Given the description of an element on the screen output the (x, y) to click on. 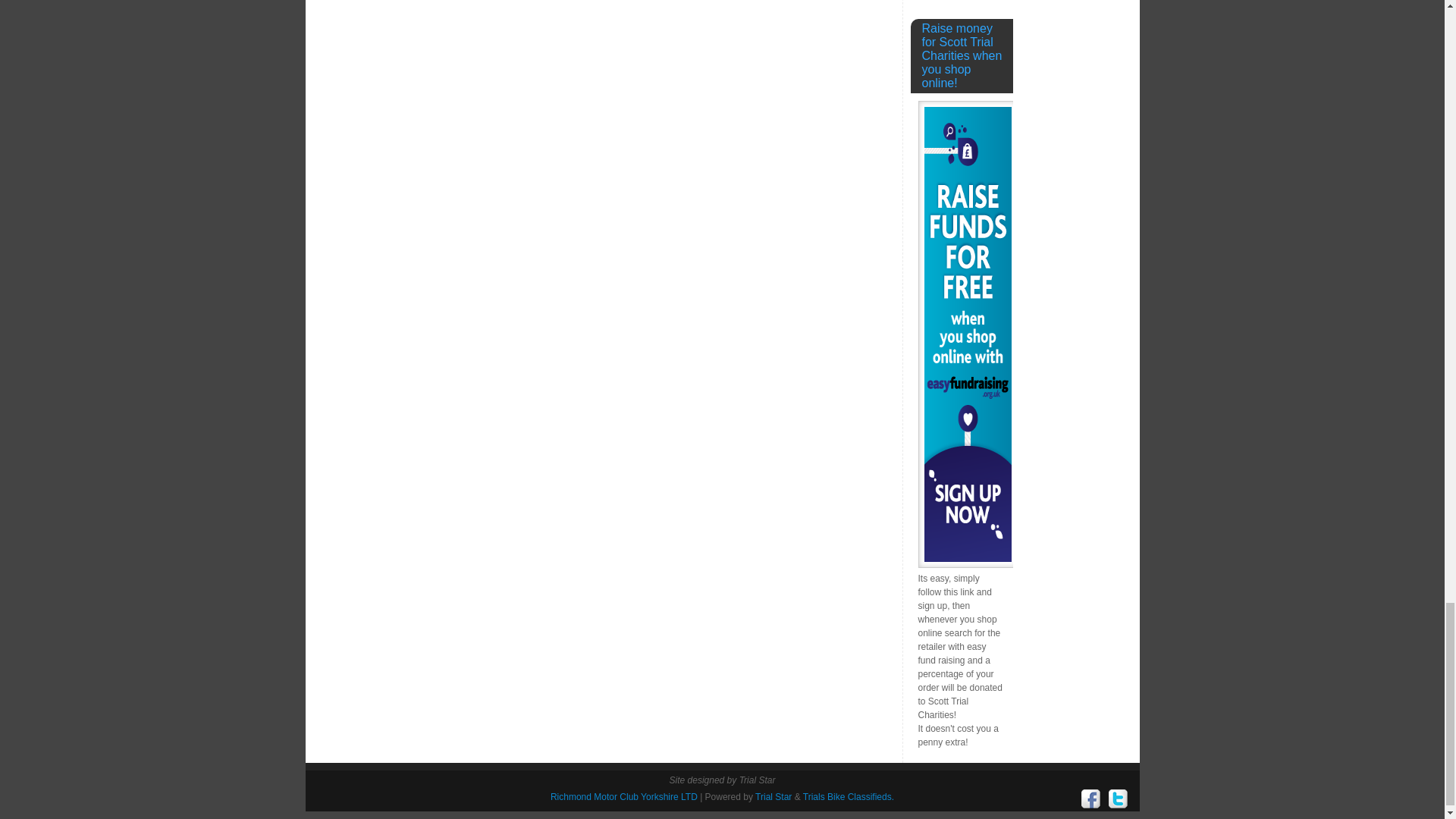
Easy Fund Raising - Scott Trial Charities (966, 563)
Trial StarTrial Star (773, 796)
Richmond Motor Club Yorkshire LTD (623, 796)
Semantic Personal Publishing Platform (848, 796)
Facebook (1090, 799)
